Given the description of an element on the screen output the (x, y) to click on. 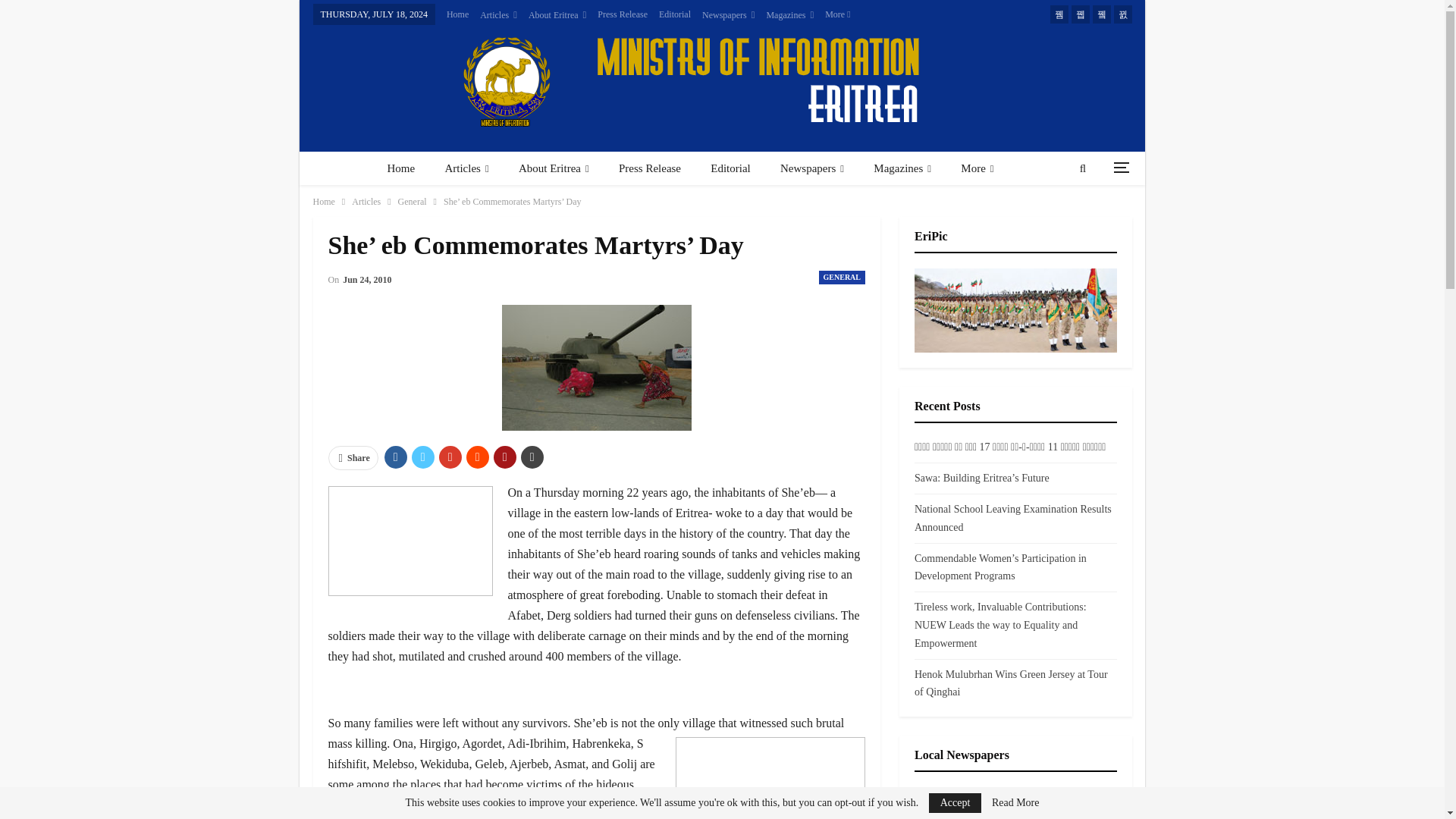
Articles (498, 14)
Home (457, 14)
About Eritrea (557, 14)
